Given the description of an element on the screen output the (x, y) to click on. 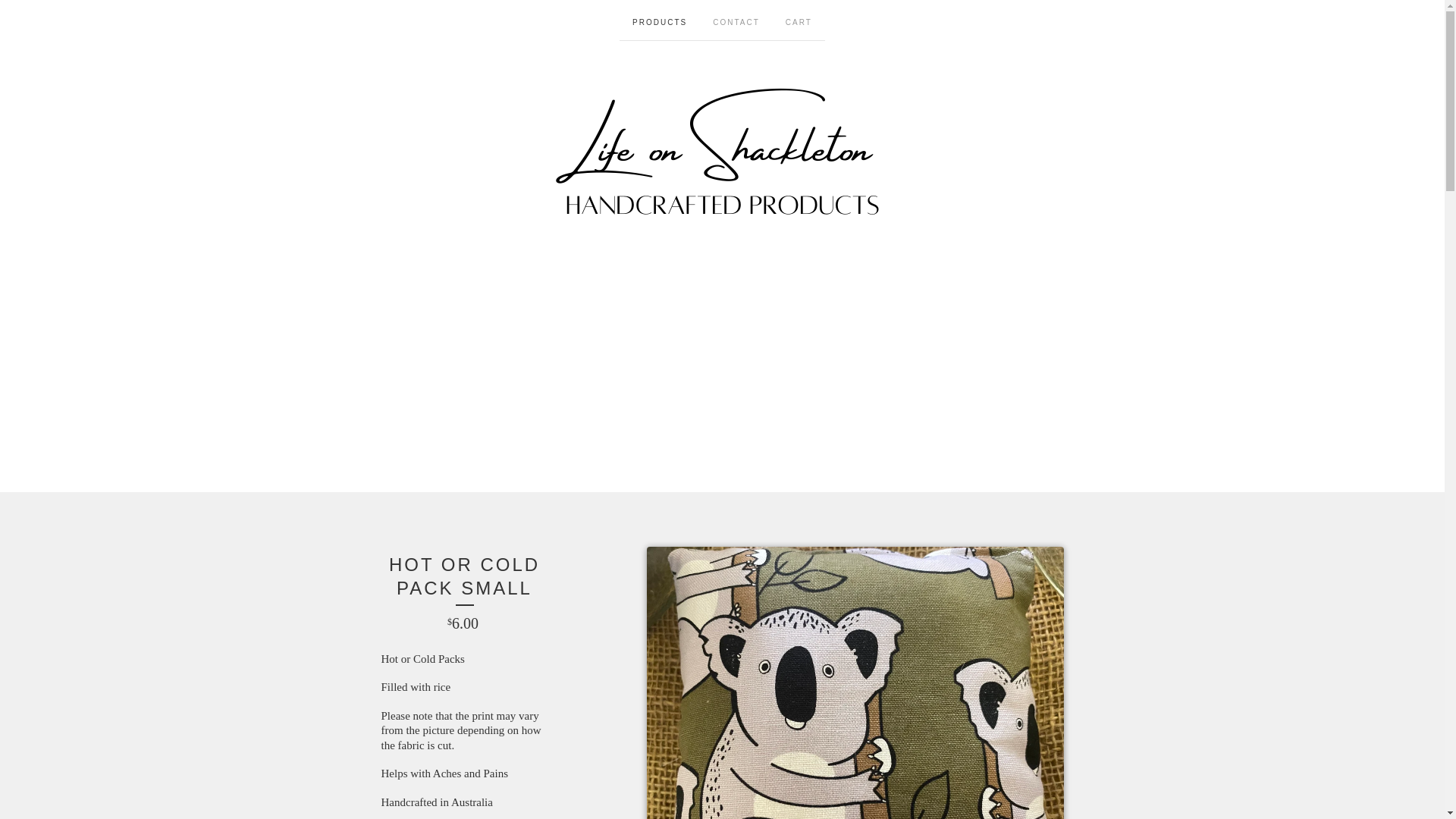
CART (799, 20)
PRODUCTS (660, 20)
CONTACT (736, 20)
